Given the description of an element on the screen output the (x, y) to click on. 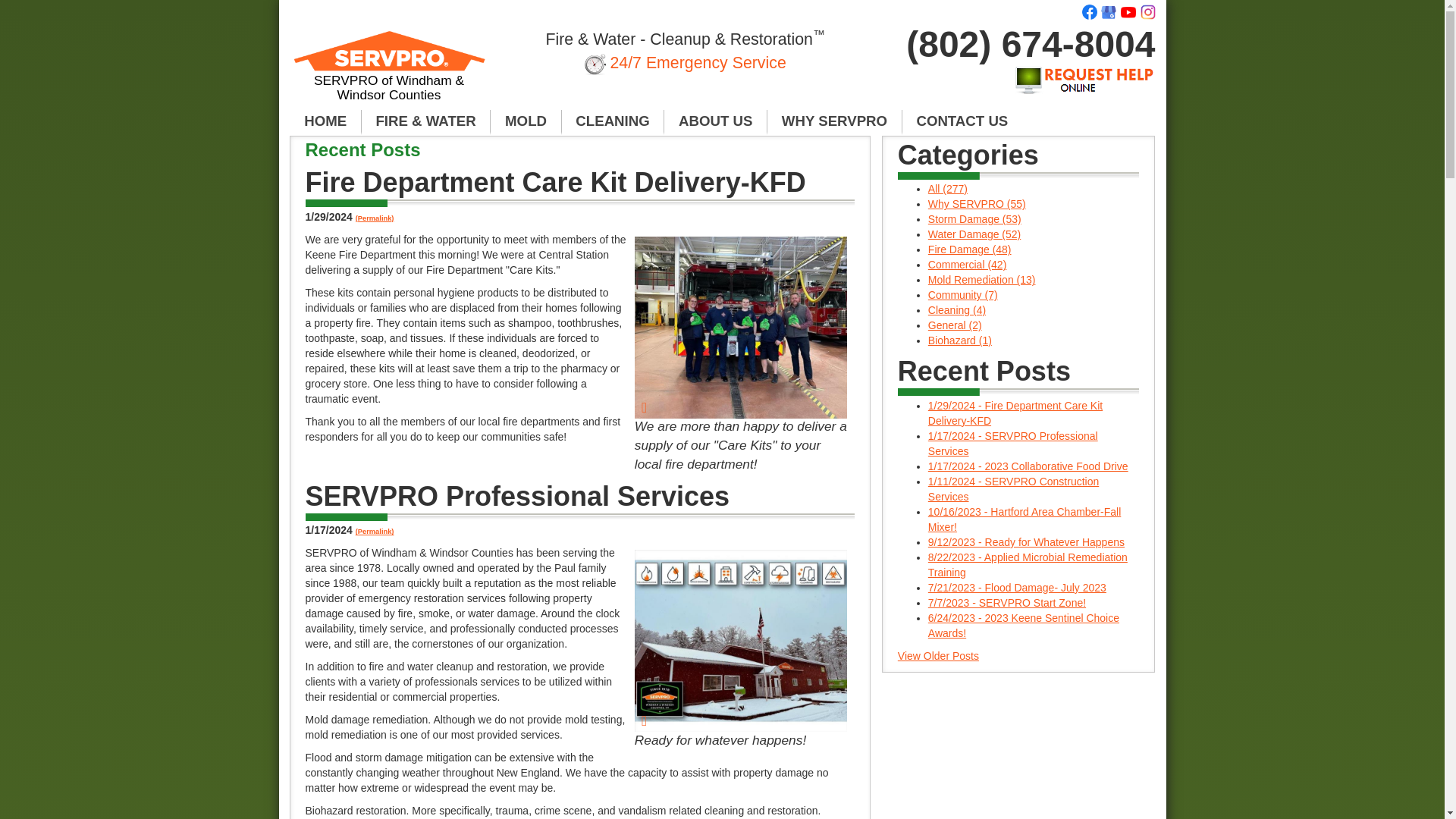
MOLD (525, 121)
HOME (325, 121)
CLEANING (613, 121)
ABOUT US (715, 121)
